Given the description of an element on the screen output the (x, y) to click on. 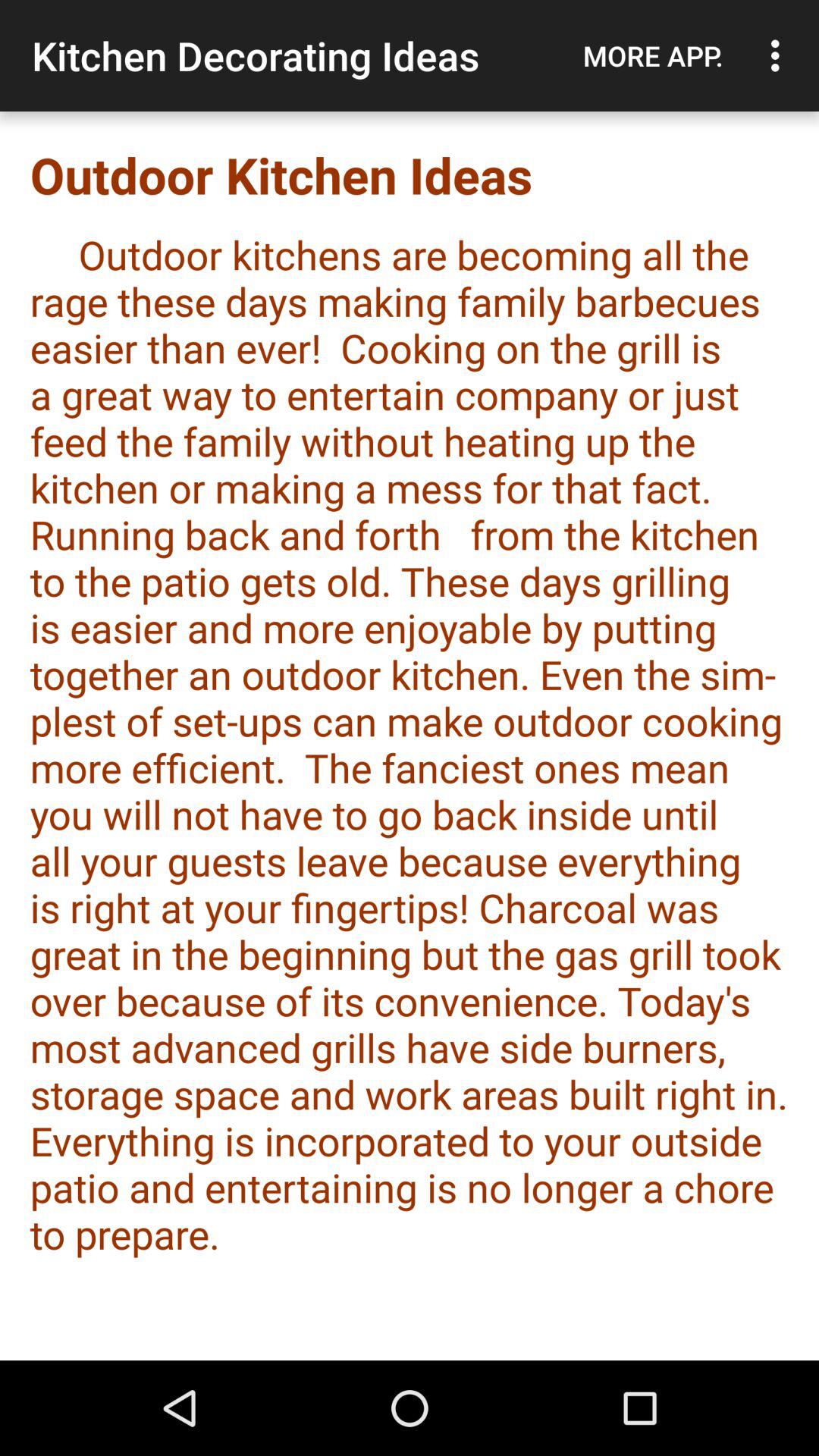
turn on the more app. item (653, 55)
